Given the description of an element on the screen output the (x, y) to click on. 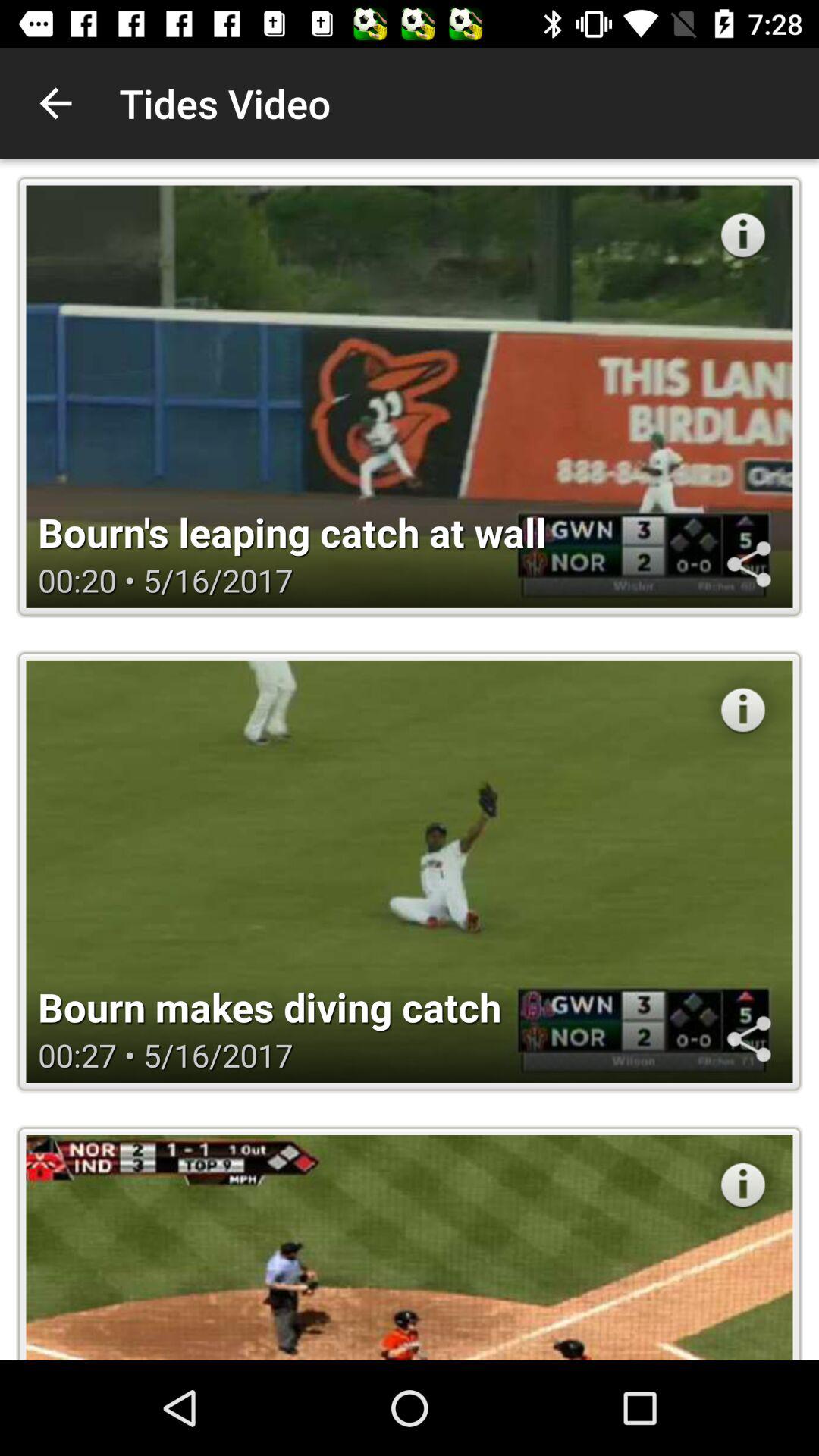
more info (742, 1184)
